Given the description of an element on the screen output the (x, y) to click on. 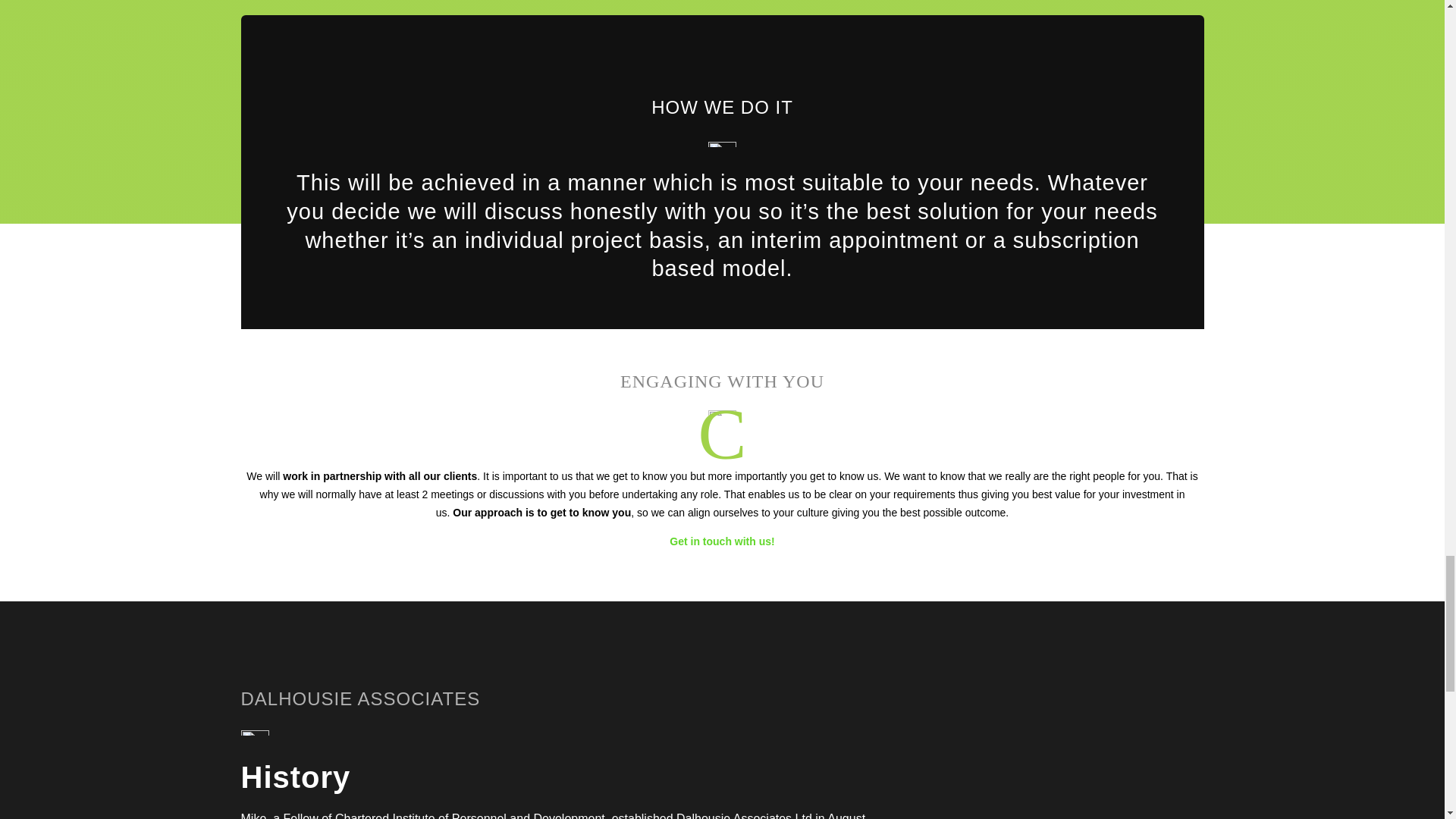
Get in touch with us! (721, 541)
